Given the description of an element on the screen output the (x, y) to click on. 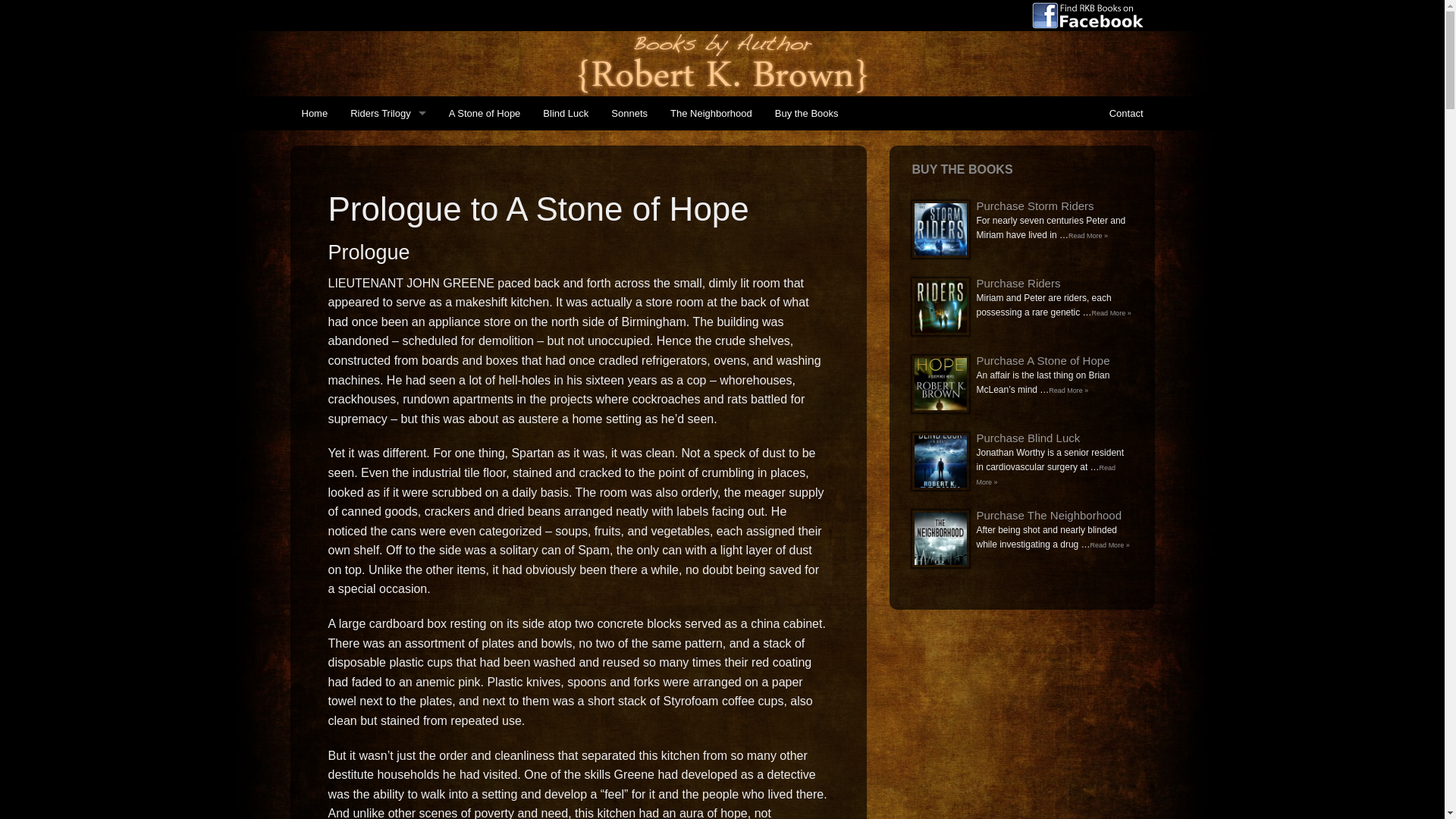
Purchase A Stone of Hope (1042, 359)
Buy the Books (806, 113)
Sonnets (629, 113)
Home (314, 113)
The Neighborhood (710, 113)
Purchase Blind Luck (1028, 437)
Blind Luck (565, 113)
Purchase The Neighborhood (1049, 514)
Contact (1125, 113)
A Stone of Hope (485, 113)
Riders Trilogy (387, 113)
Purchase Storm Riders (1035, 205)
Purchase Riders (1018, 282)
